Given the description of an element on the screen output the (x, y) to click on. 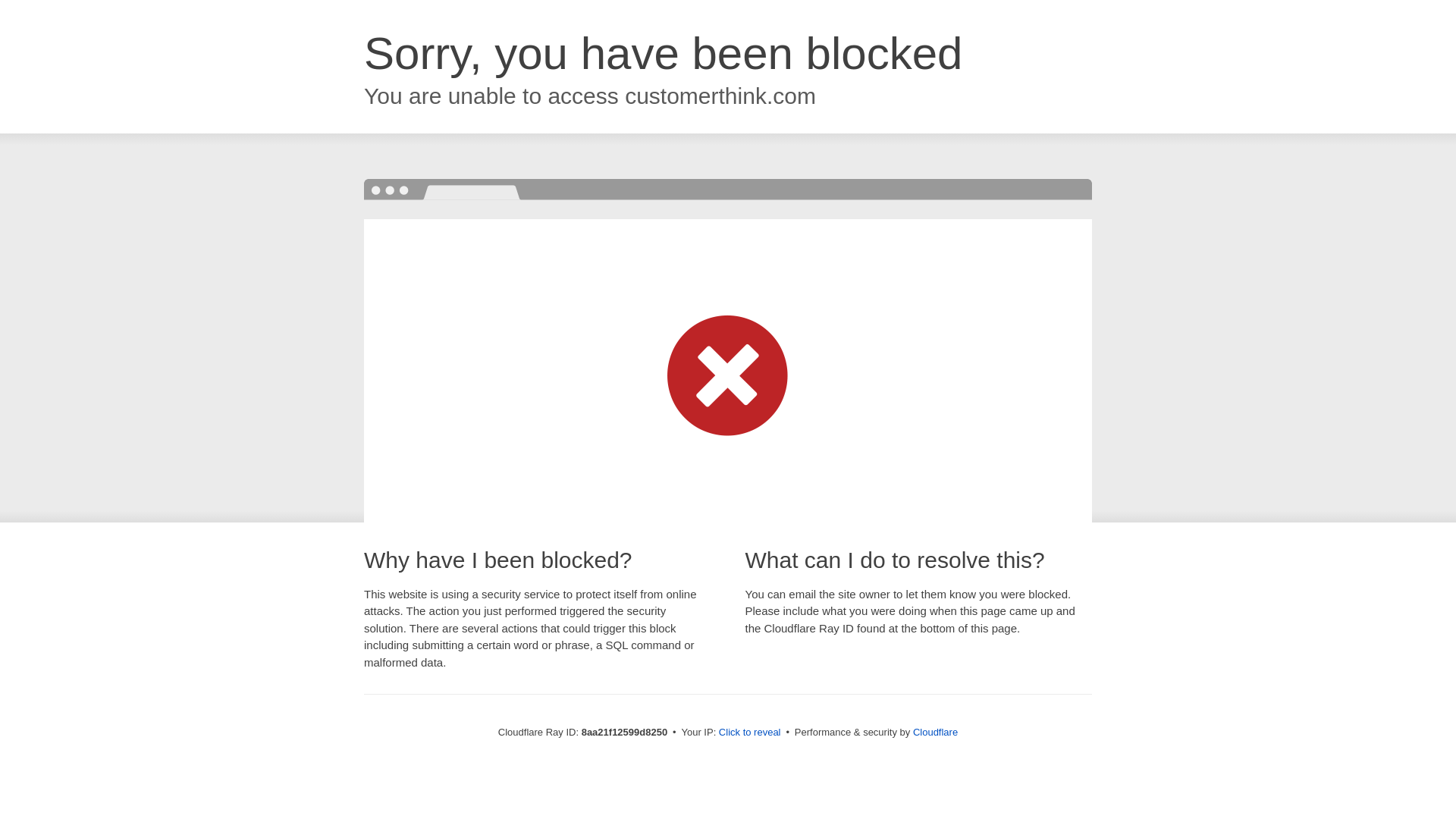
Click to reveal (749, 732)
Cloudflare (935, 731)
